Given the description of an element on the screen output the (x, y) to click on. 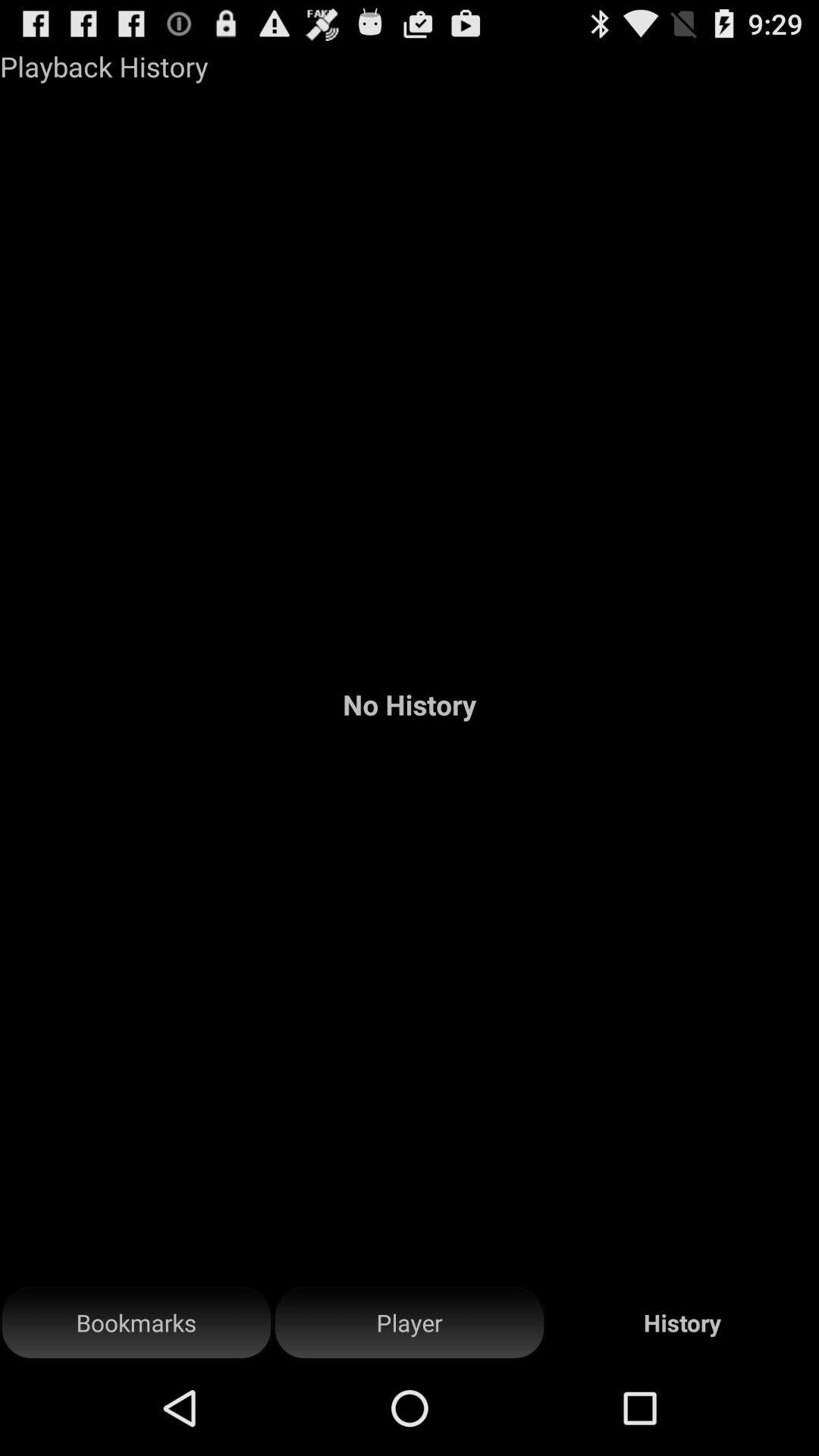
launch icon next to history icon (409, 1323)
